Given the description of an element on the screen output the (x, y) to click on. 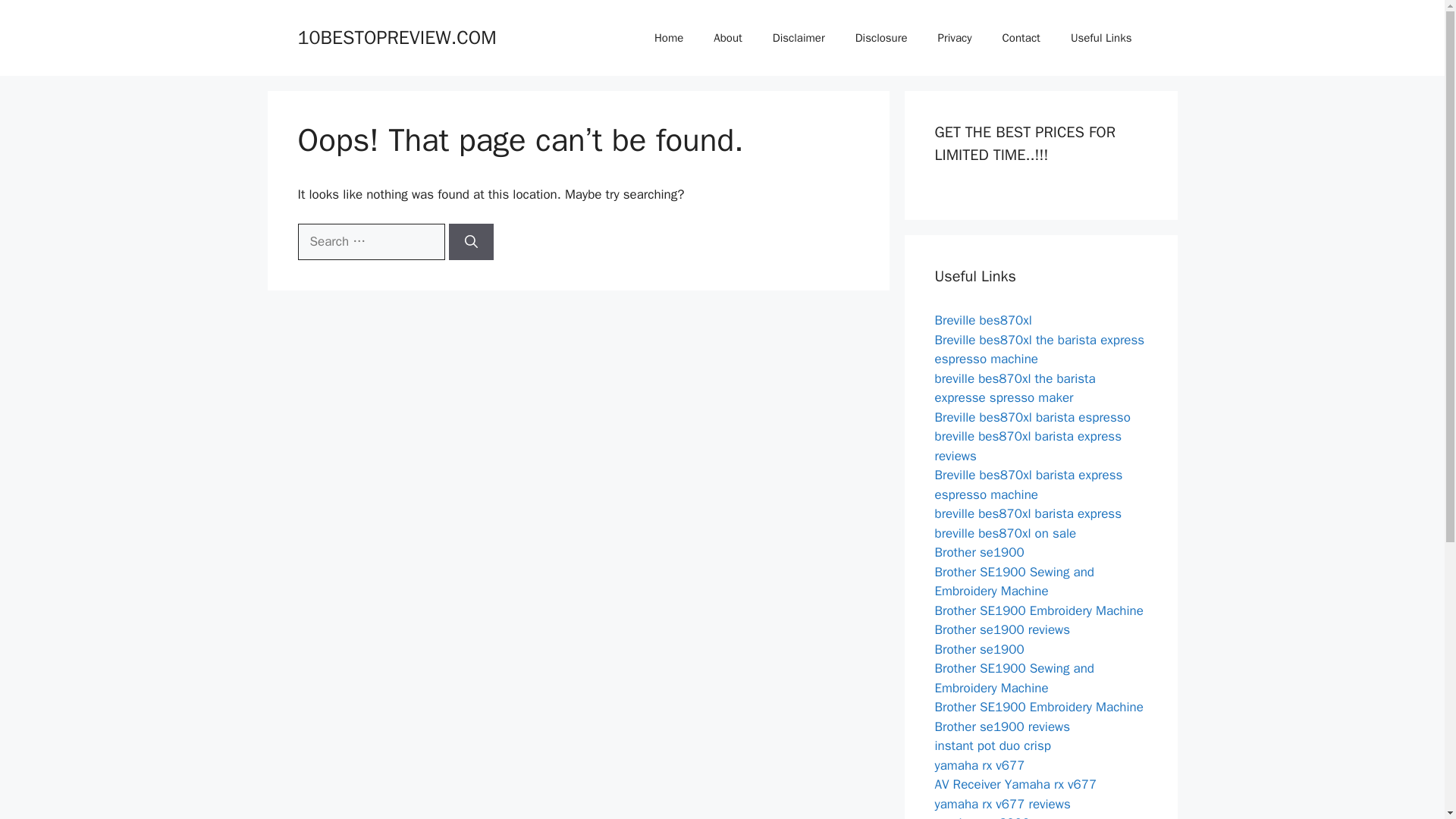
Useful Links (1101, 37)
breville bes870xl on sale (1004, 532)
Brother SE1900 Sewing and Embroidery Machine (1014, 581)
Breville bes870xl (982, 320)
Privacy (955, 37)
Brother se1900 reviews (1002, 726)
Breville bes870xl the barista express espresso machine (1039, 349)
Brother SE1900 Embroidery Machine (1038, 609)
breville bes870xl barista express reviews (1027, 446)
About (727, 37)
